Given the description of an element on the screen output the (x, y) to click on. 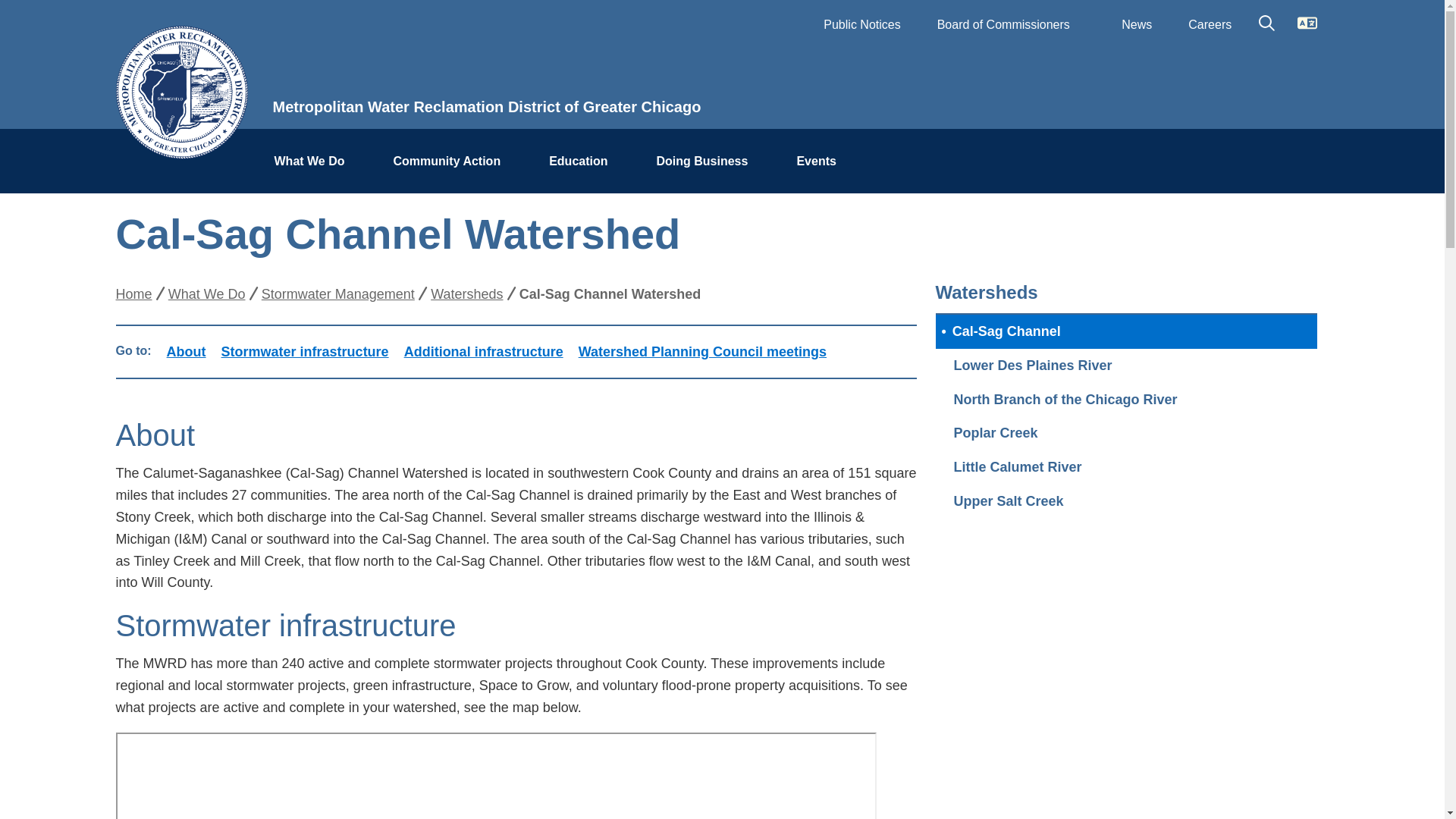
News (1136, 24)
Share to Linkedin (1213, 226)
Stormwater projects (495, 775)
What We Do (315, 161)
Public Notices (861, 24)
Board of Commissioners (1010, 24)
Share to Facebook (1122, 226)
Share to X (1167, 226)
Share to Email (1258, 226)
Translate (1307, 16)
Careers (1209, 24)
